Given the description of an element on the screen output the (x, y) to click on. 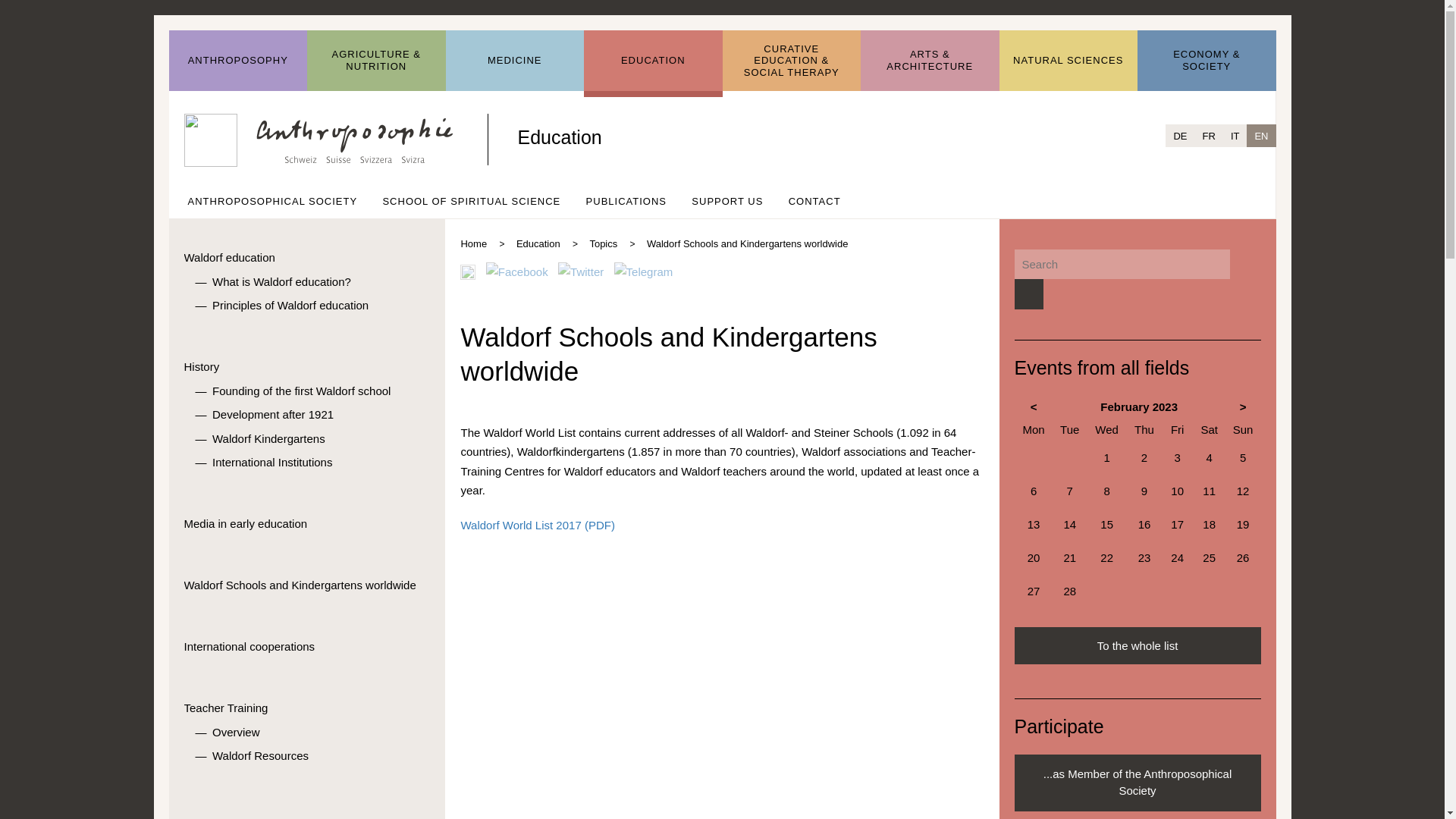
ANTHROPOSOPHY (237, 60)
MEDICINE (515, 60)
EDUCATION (652, 60)
Search (1028, 294)
